Given the description of an element on the screen output the (x, y) to click on. 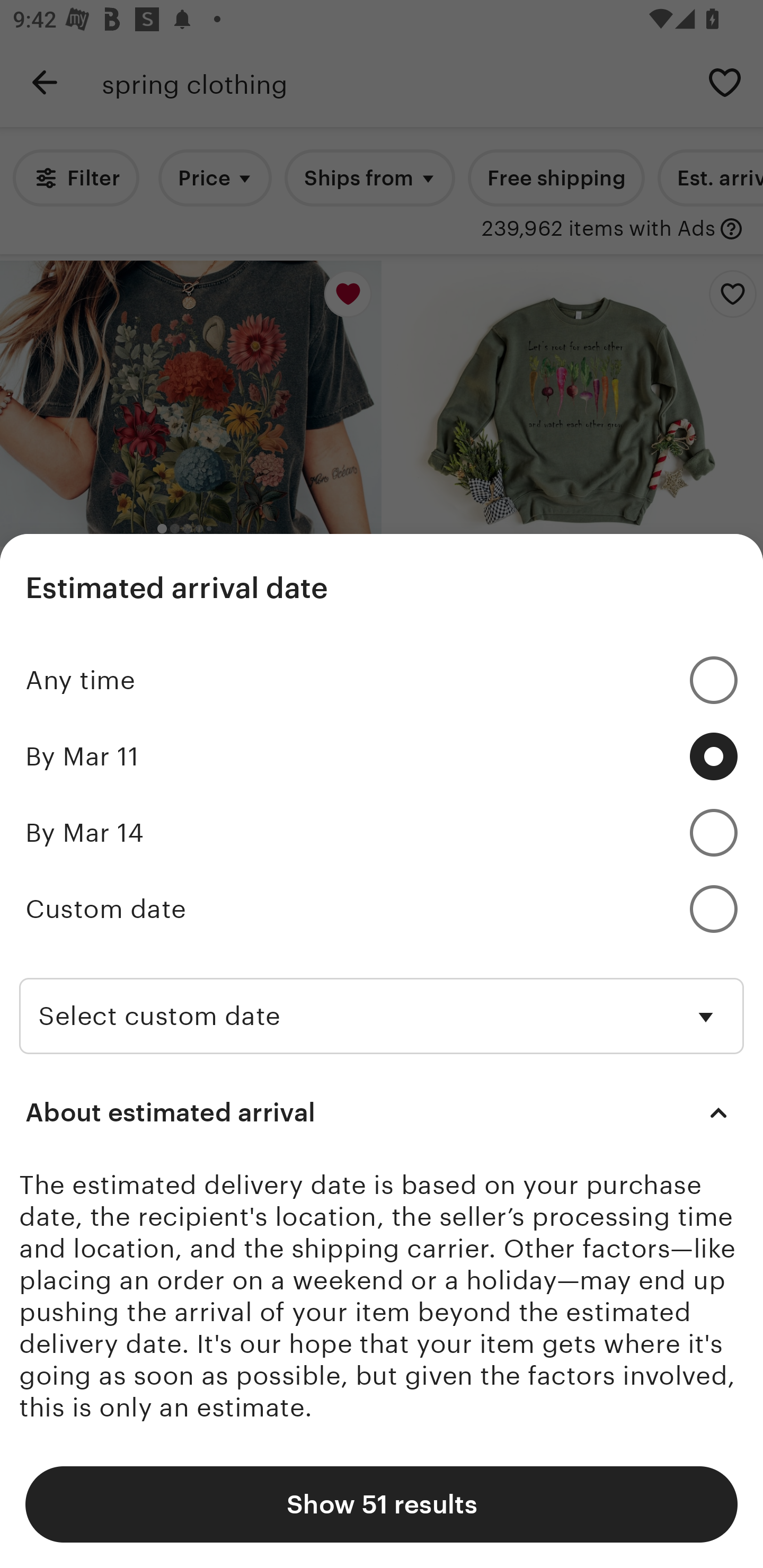
Any time (381, 679)
By Mar 14 (381, 832)
Custom date (381, 908)
Select custom date (381, 1000)
About estimated arrival (381, 1112)
Show 51 results (381, 1504)
